Given the description of an element on the screen output the (x, y) to click on. 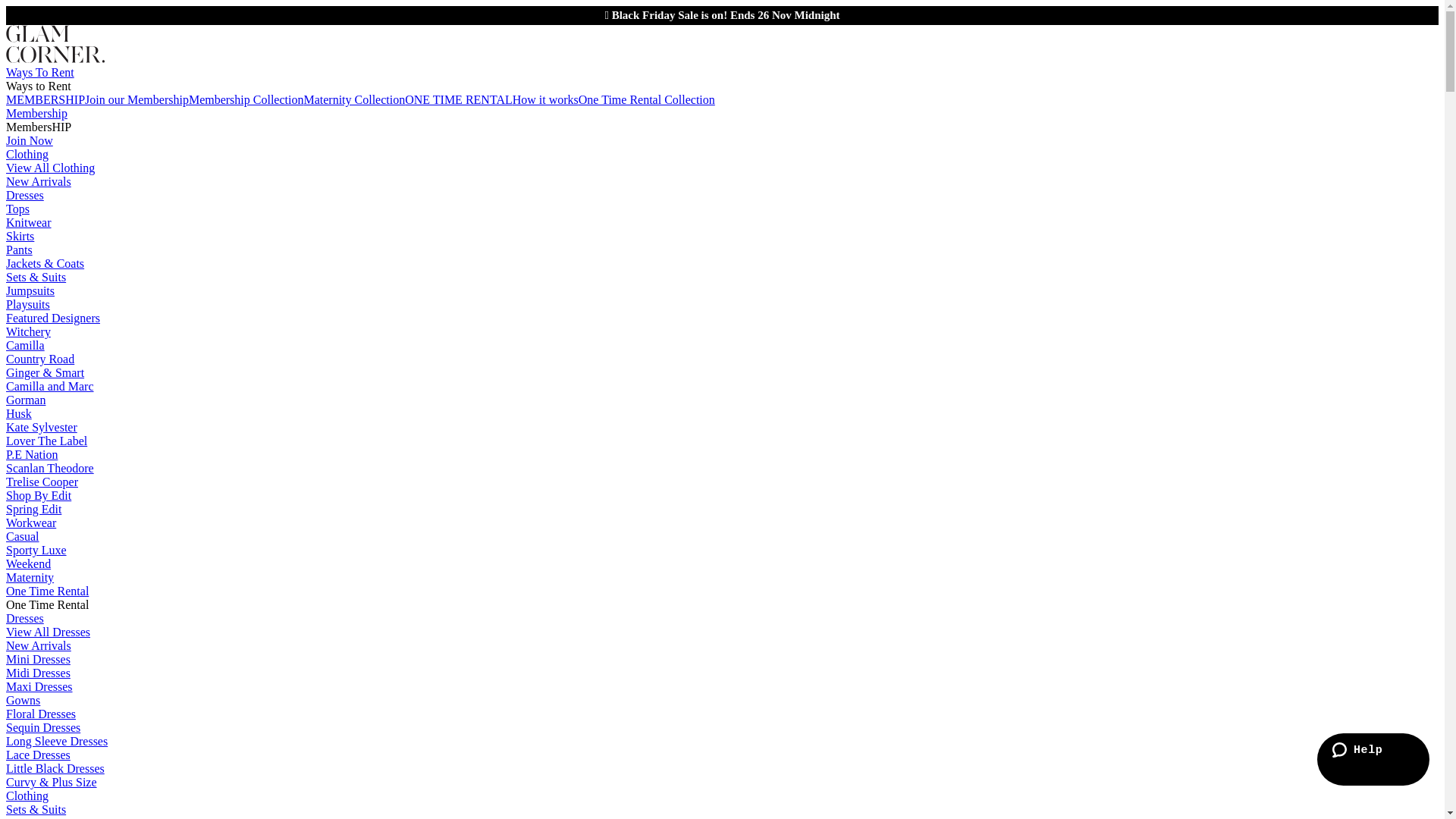
Mini Dresses Element type: text (38, 658)
Featured Designers Element type: text (53, 317)
Gowns Element type: text (23, 699)
Witchery Element type: text (28, 331)
How it works Element type: text (545, 99)
Lover The Label Element type: text (46, 440)
Knitwear Element type: text (28, 222)
Camilla Element type: text (25, 344)
Sets & Suits Element type: text (35, 809)
One Time Rental Element type: text (47, 590)
Lace Dresses Element type: text (38, 754)
One Time Rental Collection Element type: text (646, 99)
MEMBERSHIP Element type: text (45, 99)
Workwear Element type: text (31, 522)
Weekend Element type: text (28, 563)
Gorman Element type: text (25, 399)
Maternity Collection Element type: text (353, 99)
Camilla and Marc Element type: text (50, 385)
Floral Dresses Element type: text (40, 713)
Shop By Edit Element type: text (38, 495)
Kate Sylvester Element type: text (41, 426)
Pants Element type: text (19, 249)
Sporty Luxe Element type: text (36, 549)
Maxi Dresses Element type: text (39, 686)
Dresses Element type: text (24, 194)
Little Black Dresses Element type: text (55, 768)
View All Clothing Element type: text (50, 167)
New Arrivals Element type: text (38, 645)
Maternity Element type: text (29, 577)
Spring Edit Element type: text (33, 508)
Ginger & Smart Element type: text (45, 372)
Join Now Element type: text (29, 140)
Dresses Element type: text (24, 617)
Sets & Suits Element type: text (35, 276)
Long Sleeve Dresses Element type: text (56, 740)
Membership Element type: text (36, 112)
Join our Membership Element type: text (136, 99)
Jumpsuits Element type: text (30, 290)
Scanlan Theodore Element type: text (50, 467)
Ways To Rent Element type: text (40, 71)
Membership Collection Element type: text (246, 99)
P.E Nation Element type: text (31, 454)
Country Road Element type: text (40, 358)
Casual Element type: text (22, 536)
Jackets & Coats Element type: text (45, 263)
Curvy & Plus Size Element type: text (51, 781)
ONE TIME RENTAL Element type: text (458, 99)
Sequin Dresses Element type: text (43, 727)
New Arrivals Element type: text (38, 181)
Clothing Element type: text (27, 153)
View All Dresses Element type: text (48, 631)
Midi Dresses Element type: text (38, 672)
  Help Element type: text (1373, 759)
Husk Element type: text (18, 413)
Tops Element type: text (17, 208)
Clothing Element type: text (27, 795)
Trelise Cooper Element type: text (42, 481)
Playsuits Element type: text (28, 304)
Skirts Element type: text (20, 235)
